Given the description of an element on the screen output the (x, y) to click on. 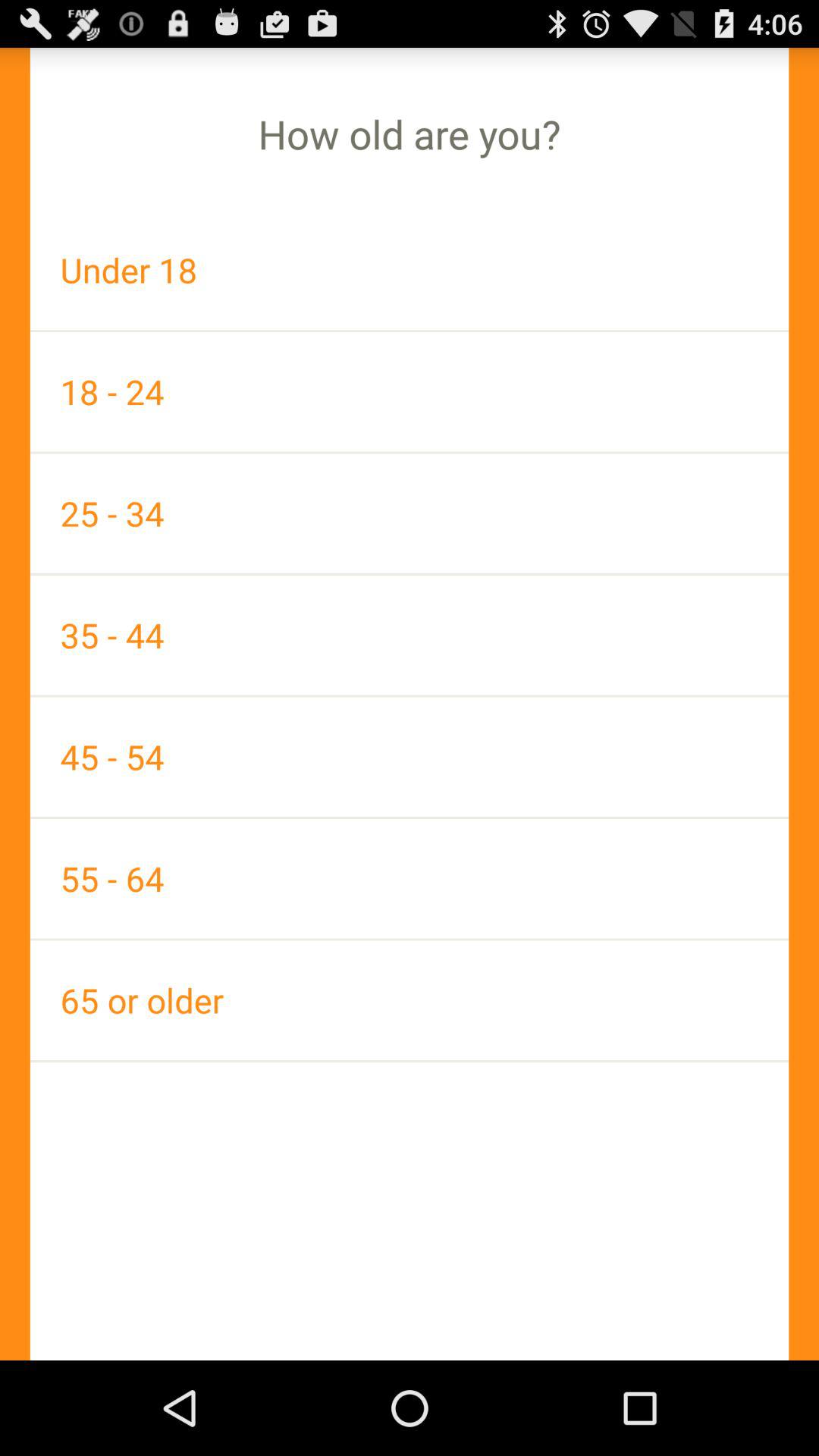
jump until 55 - 64 app (409, 878)
